Given the description of an element on the screen output the (x, y) to click on. 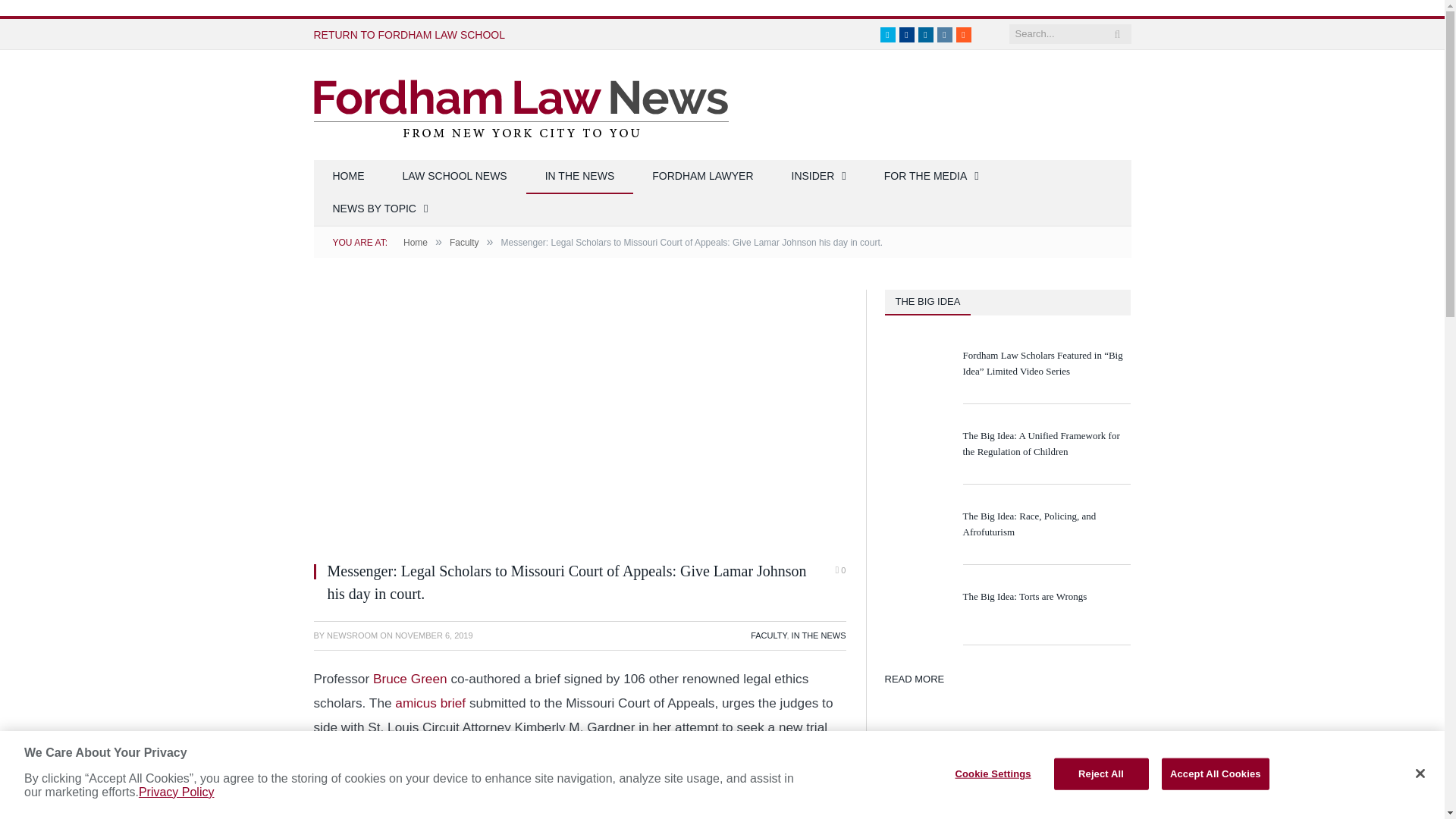
Instagram (944, 34)
IN THE NEWS (579, 176)
Home (415, 242)
Faculty (464, 242)
LAW SCHOOL NEWS (454, 176)
FOR THE MEDIA (930, 176)
RSS (963, 34)
IN THE NEWS (818, 634)
LinkedIn (925, 34)
HOME (349, 176)
Twitter (887, 34)
FORDHAM LAWYER (702, 176)
NEWS BY TOPIC (380, 209)
Fordham Law News (521, 108)
